Given the description of an element on the screen output the (x, y) to click on. 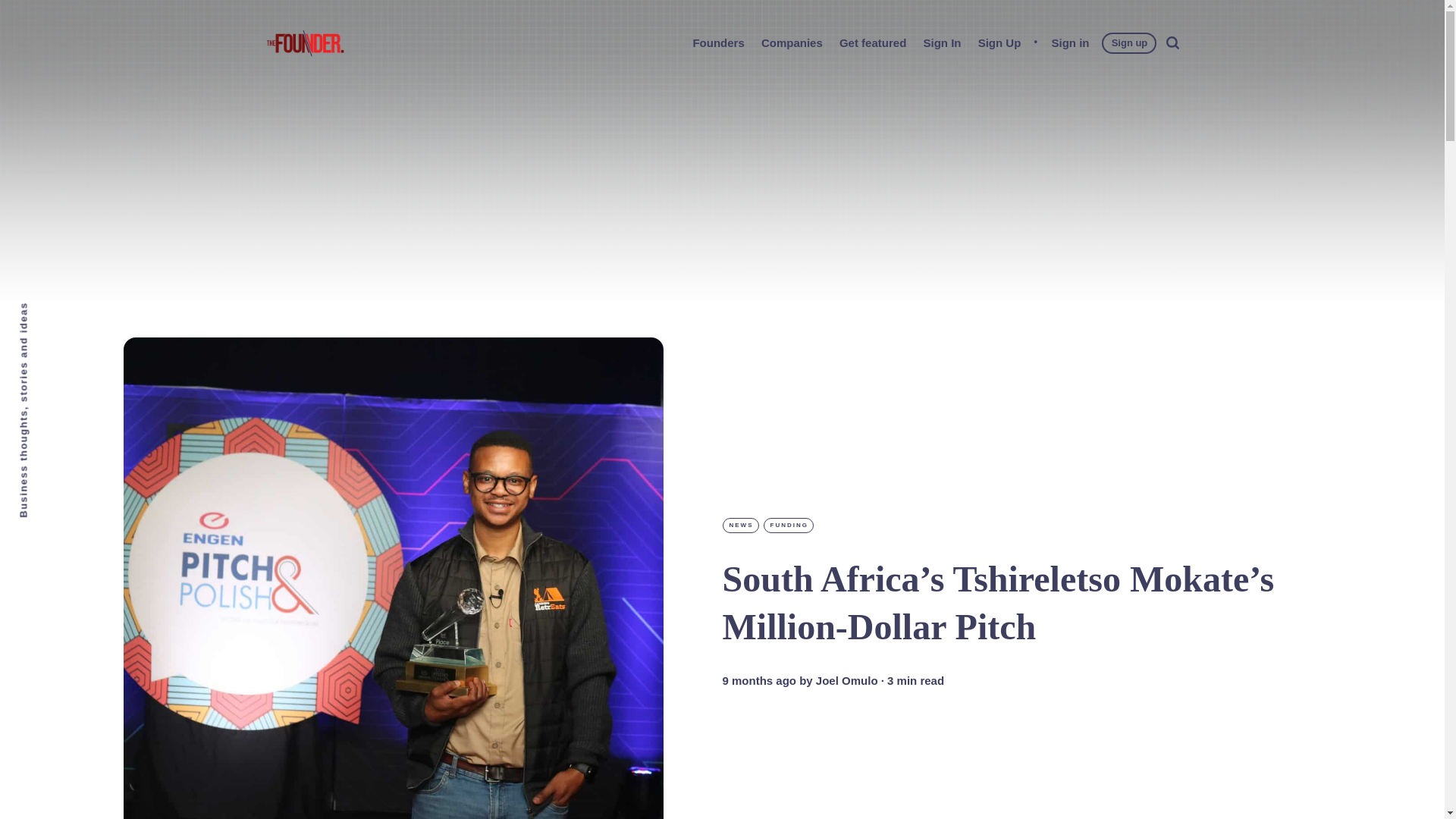
Sign in (1069, 42)
Companies (792, 42)
FUNDING (787, 525)
NEWS (740, 525)
Sign up (1129, 42)
Get featured (872, 42)
Sign Up (999, 42)
Joel Omulo (846, 680)
Founders (717, 42)
Sign In (941, 42)
